Given the description of an element on the screen output the (x, y) to click on. 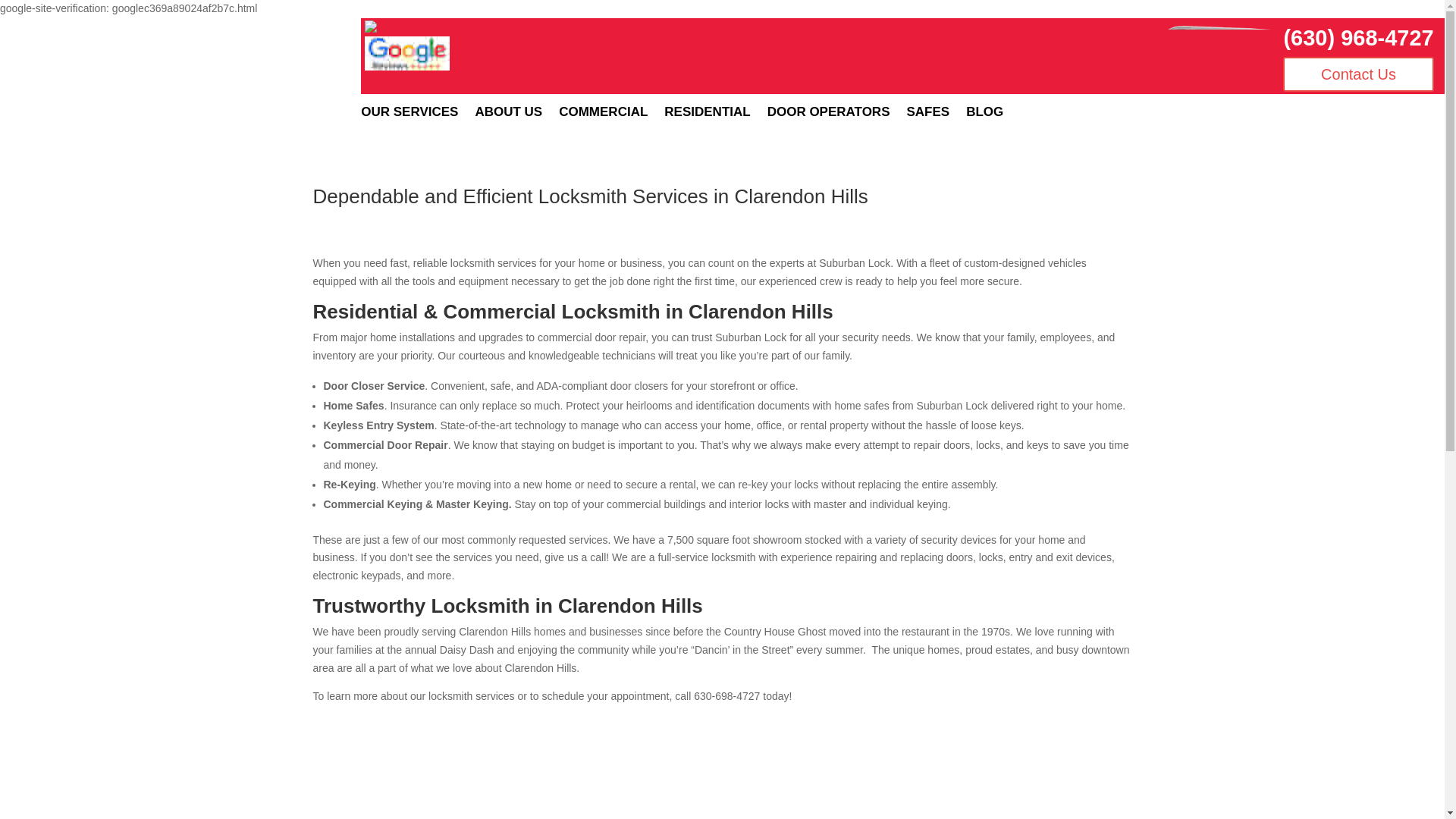
DOOR OPERATORS (828, 115)
Contact Us (1357, 73)
ABOUT US (507, 115)
SAFES (928, 115)
COMMERCIAL (603, 115)
BLOG (984, 115)
OUR SERVICES (409, 115)
RESIDENTIAL (706, 115)
